Given the description of an element on the screen output the (x, y) to click on. 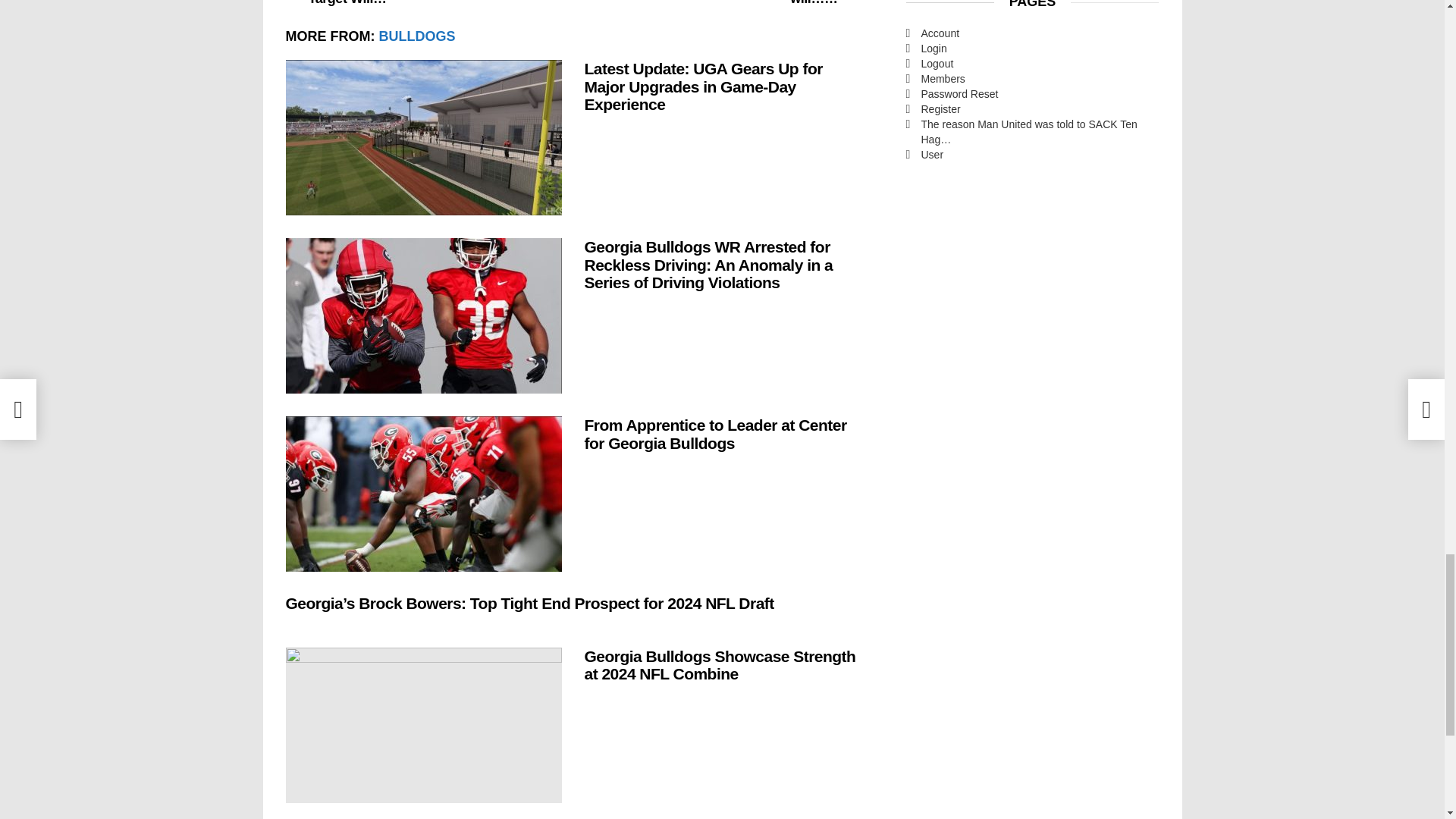
From Apprentice to Leader at Center for Georgia Bulldogs (422, 493)
Georgia Bulldogs Showcase Strength at 2024 NFL Combine (422, 725)
